Given the description of an element on the screen output the (x, y) to click on. 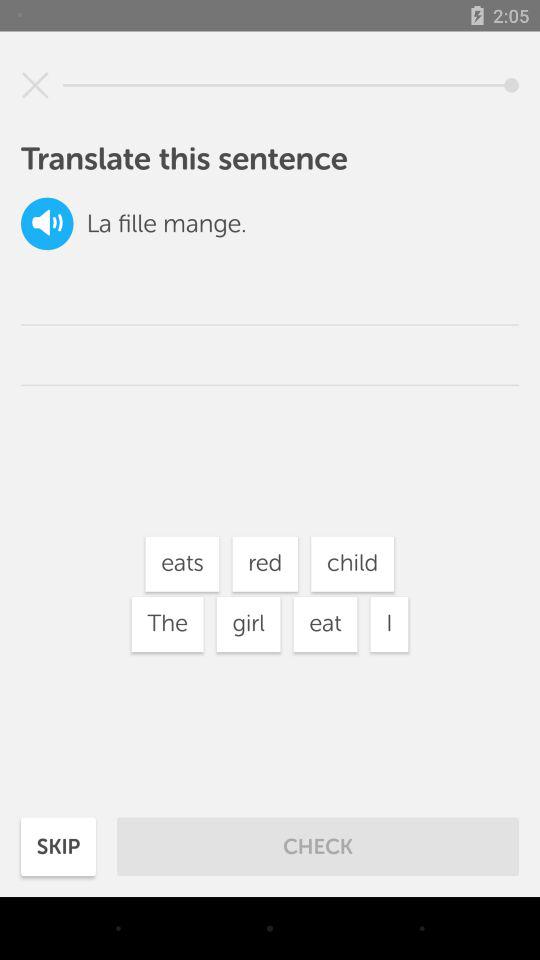
click the icon on the right (389, 624)
